Given the description of an element on the screen output the (x, y) to click on. 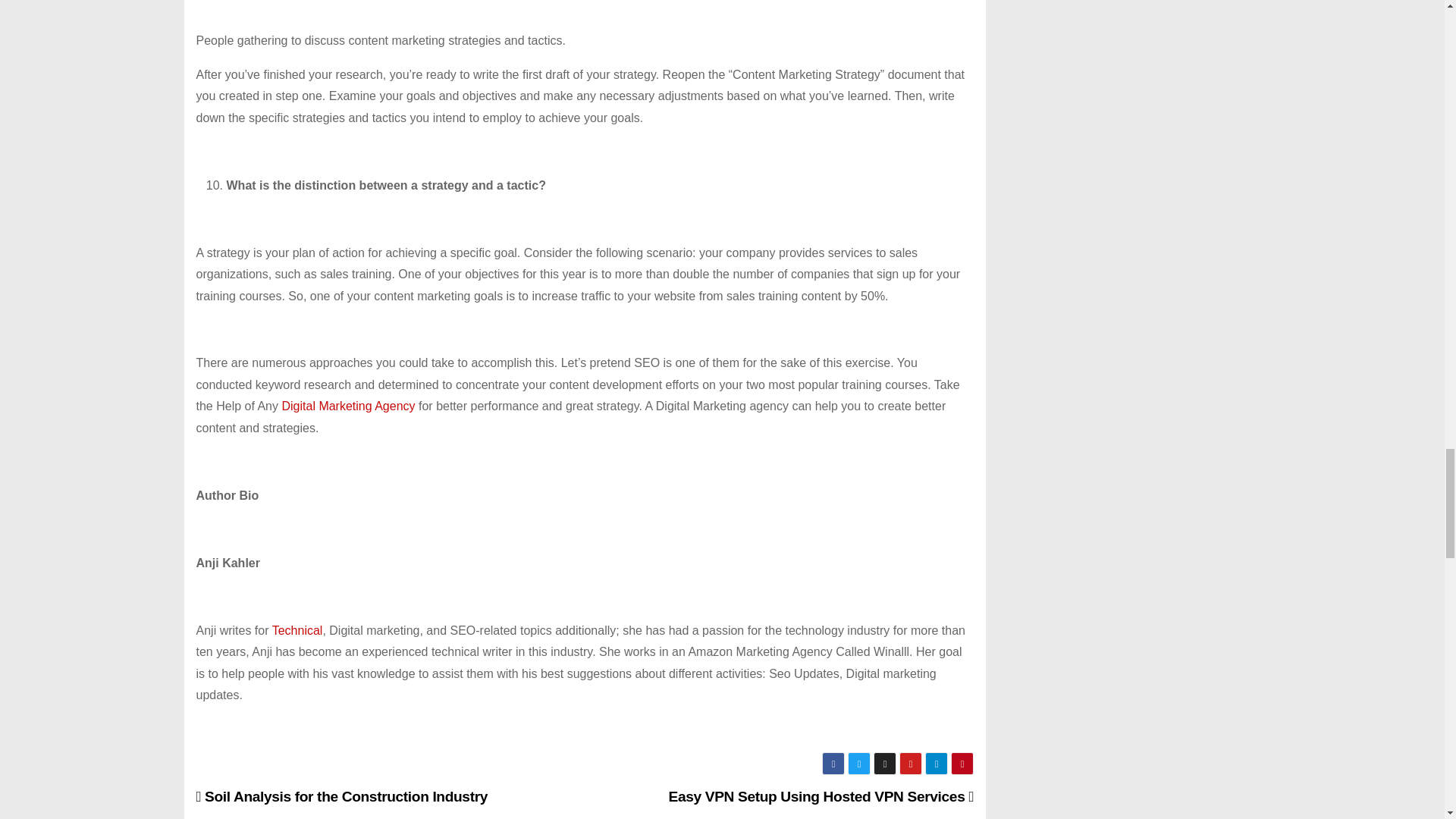
Technical (297, 630)
Digital Marketing Agency (347, 405)
